Given the description of an element on the screen output the (x, y) to click on. 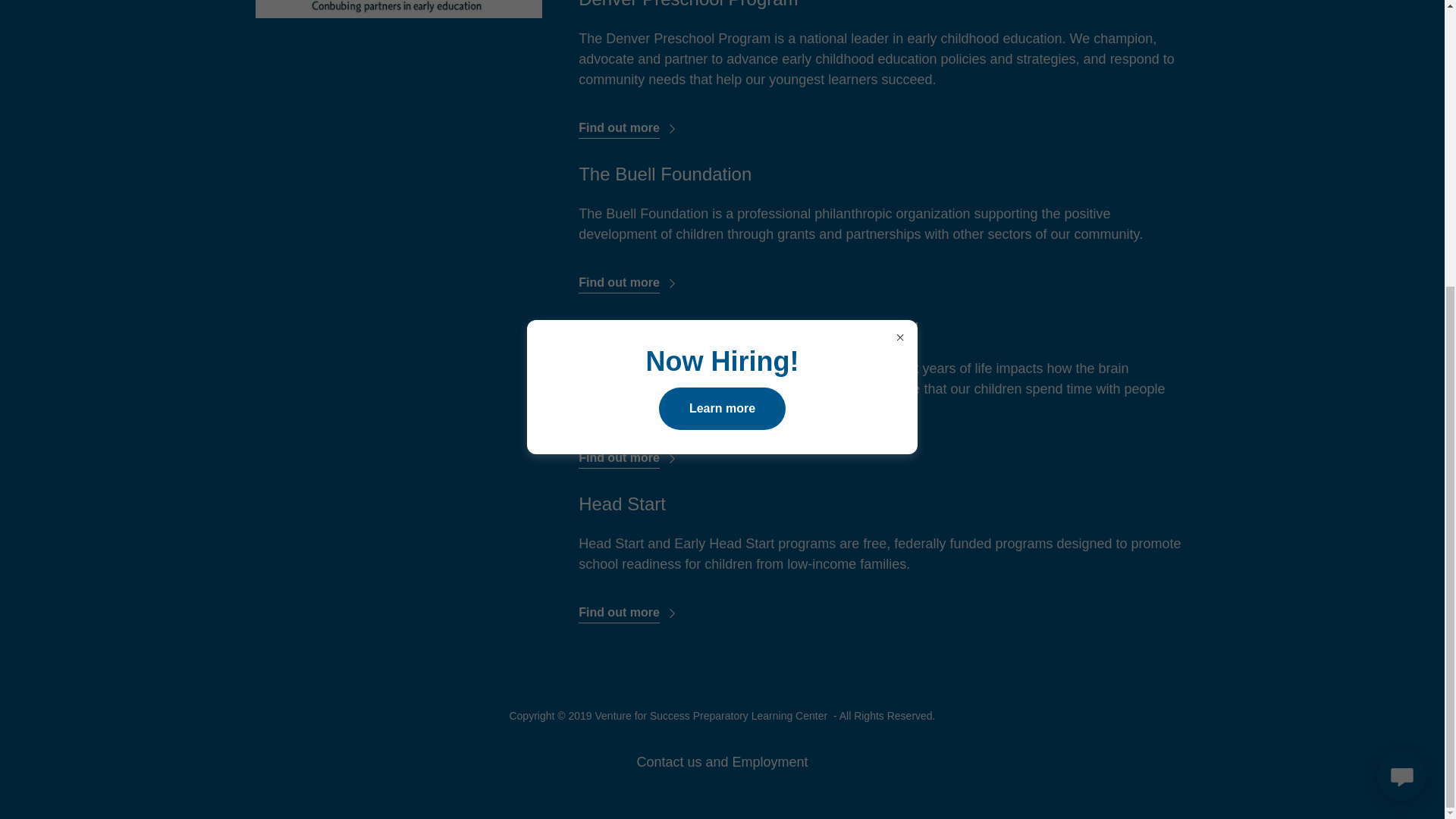
Find out more (628, 277)
Find out more (628, 607)
Find out more (628, 453)
Find out more (628, 123)
Contact us and Employment (721, 762)
